Given the description of an element on the screen output the (x, y) to click on. 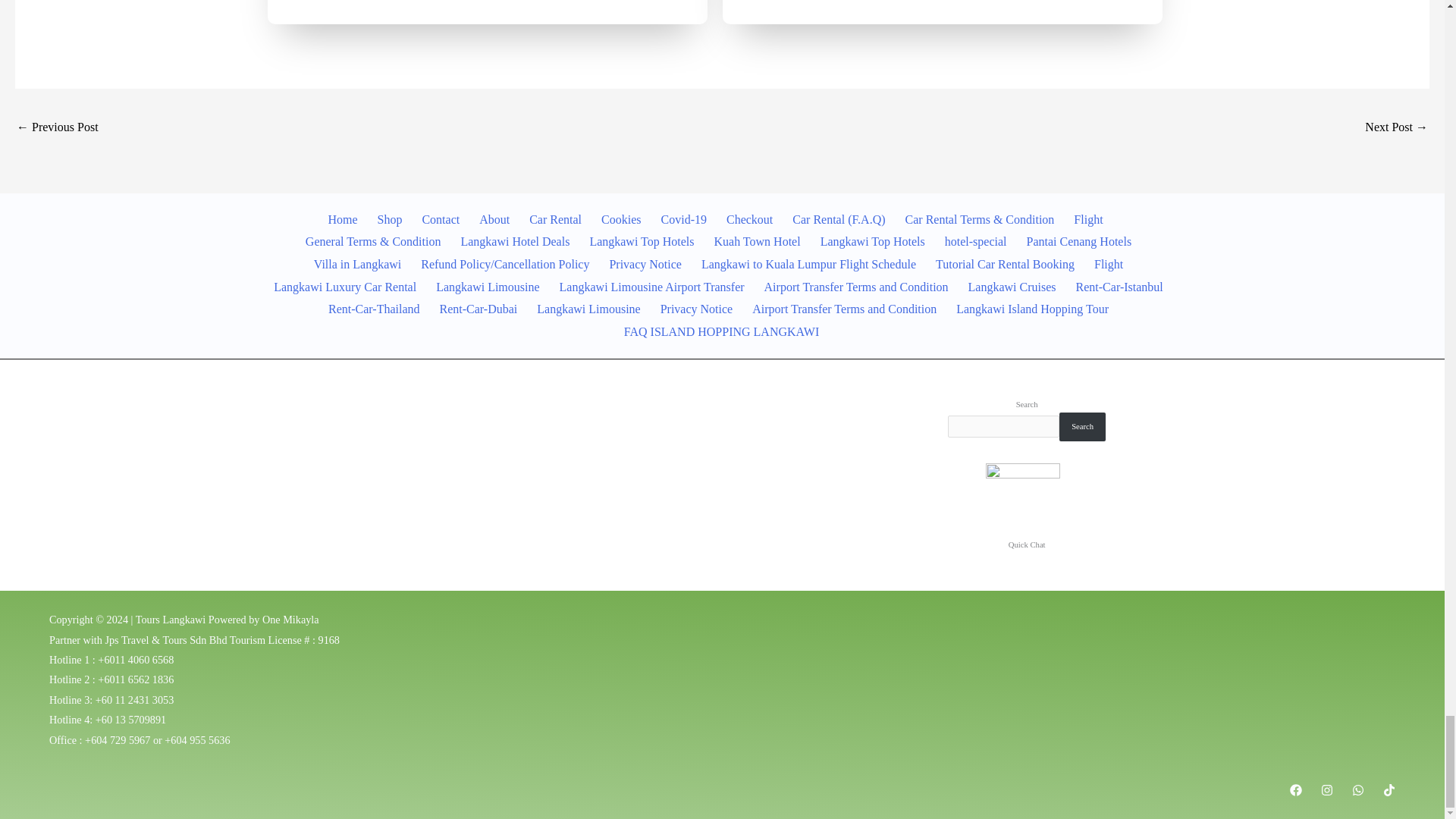
Rebirth of Pulau Singa Besar Langkawi (57, 128)
Student Internship Program Langkawi (1396, 128)
